Given the description of an element on the screen output the (x, y) to click on. 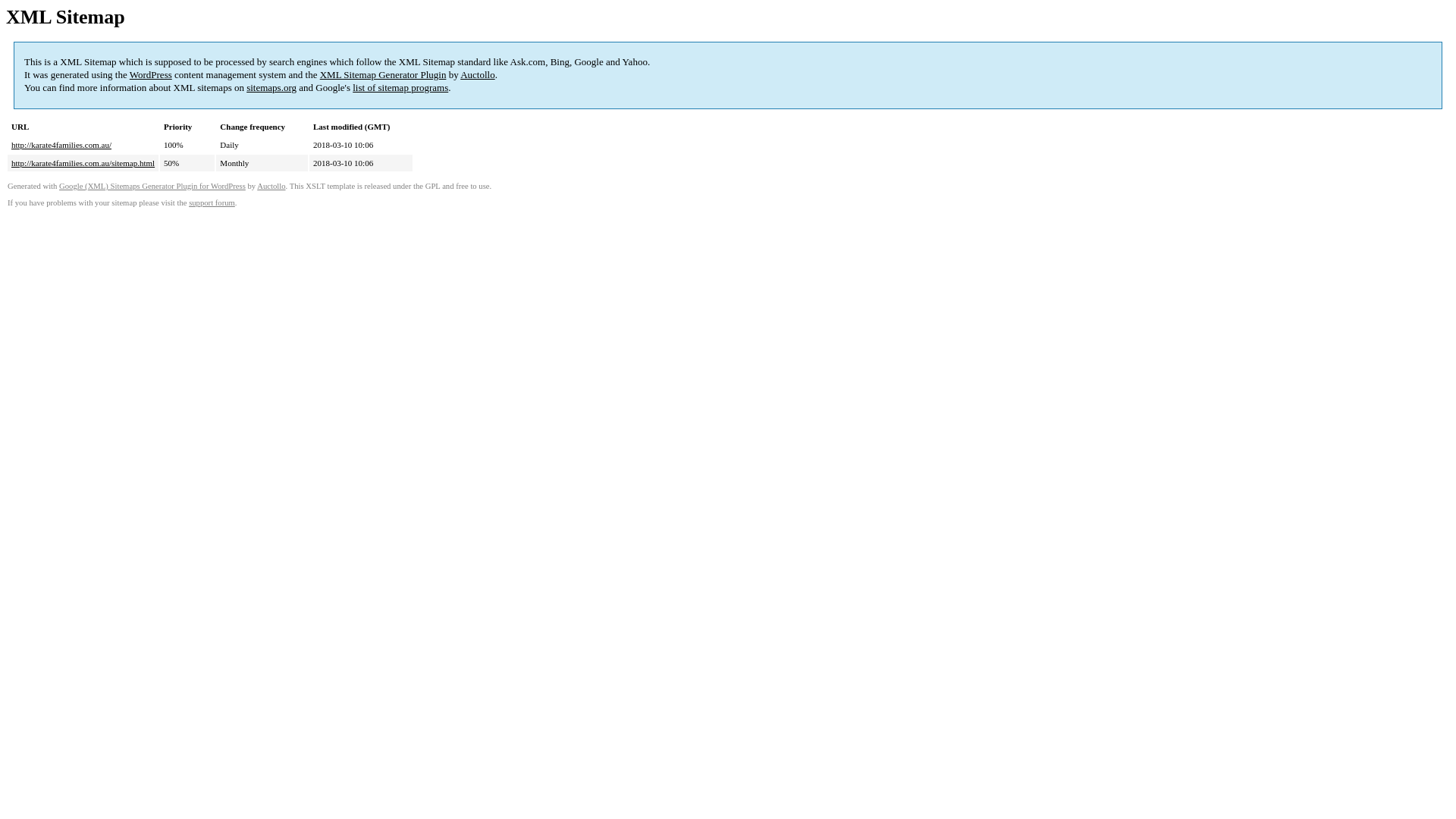
Google (XML) Sitemaps Generator Plugin for WordPress Element type: text (152, 186)
Auctollo Element type: text (477, 74)
list of sitemap programs Element type: text (400, 87)
http://karate4families.com.au/sitemap.html Element type: text (82, 162)
Auctollo Element type: text (271, 186)
XML Sitemap Generator Plugin Element type: text (383, 74)
sitemaps.org Element type: text (271, 87)
WordPress Element type: text (150, 74)
support forum Element type: text (211, 202)
http://karate4families.com.au/ Element type: text (61, 144)
